Given the description of an element on the screen output the (x, y) to click on. 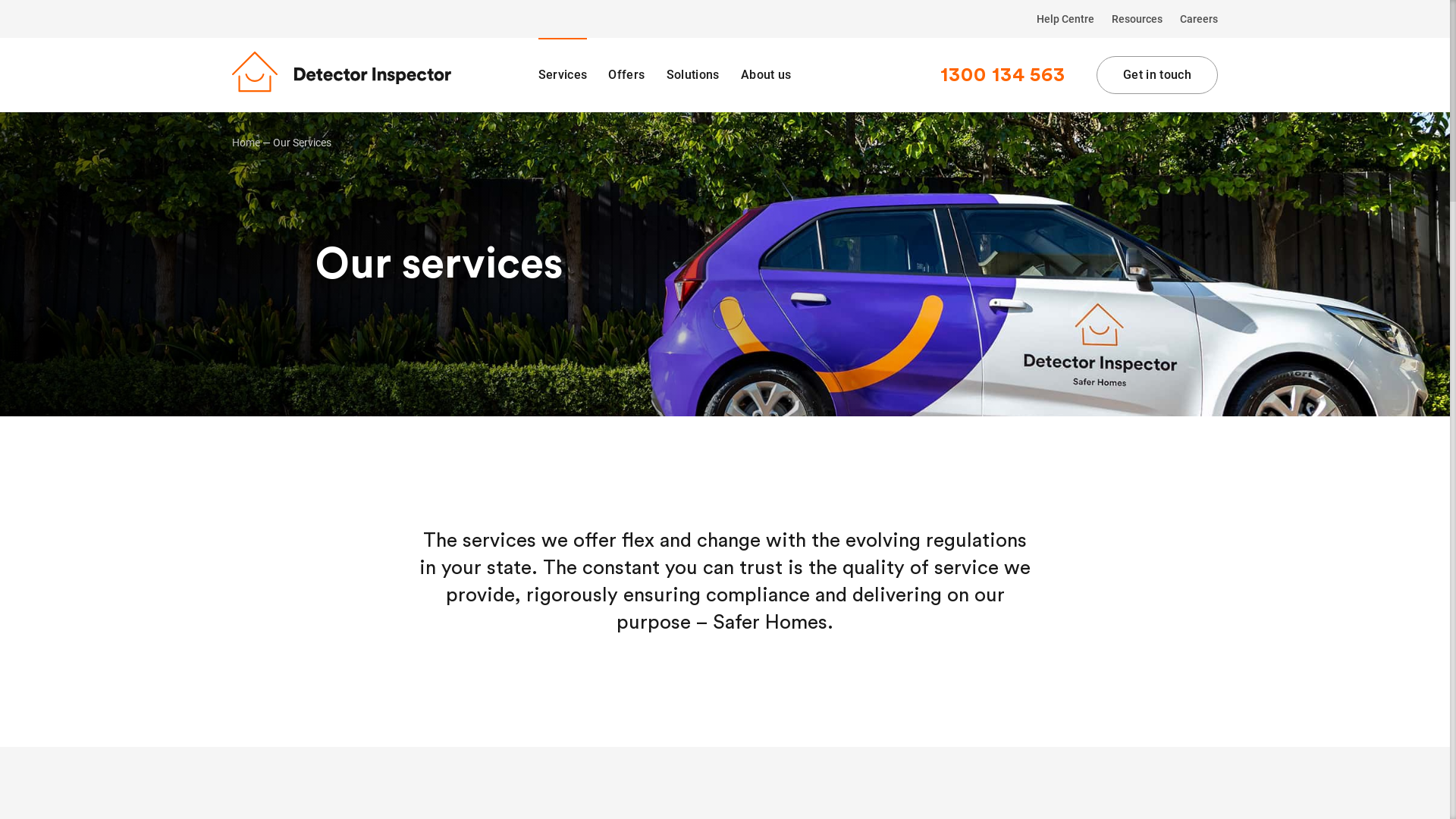
Home Element type: text (246, 142)
Resources Element type: text (1136, 18)
Solutions Element type: text (692, 74)
Get in touch Element type: text (1156, 75)
Careers Element type: text (1194, 18)
Offers Element type: text (626, 74)
Help Centre Element type: text (1065, 18)
About us Element type: text (765, 74)
1300 134 563 Element type: text (1002, 74)
Skip to main content Element type: text (0, 0)
Services Element type: text (562, 74)
